Given the description of an element on the screen output the (x, y) to click on. 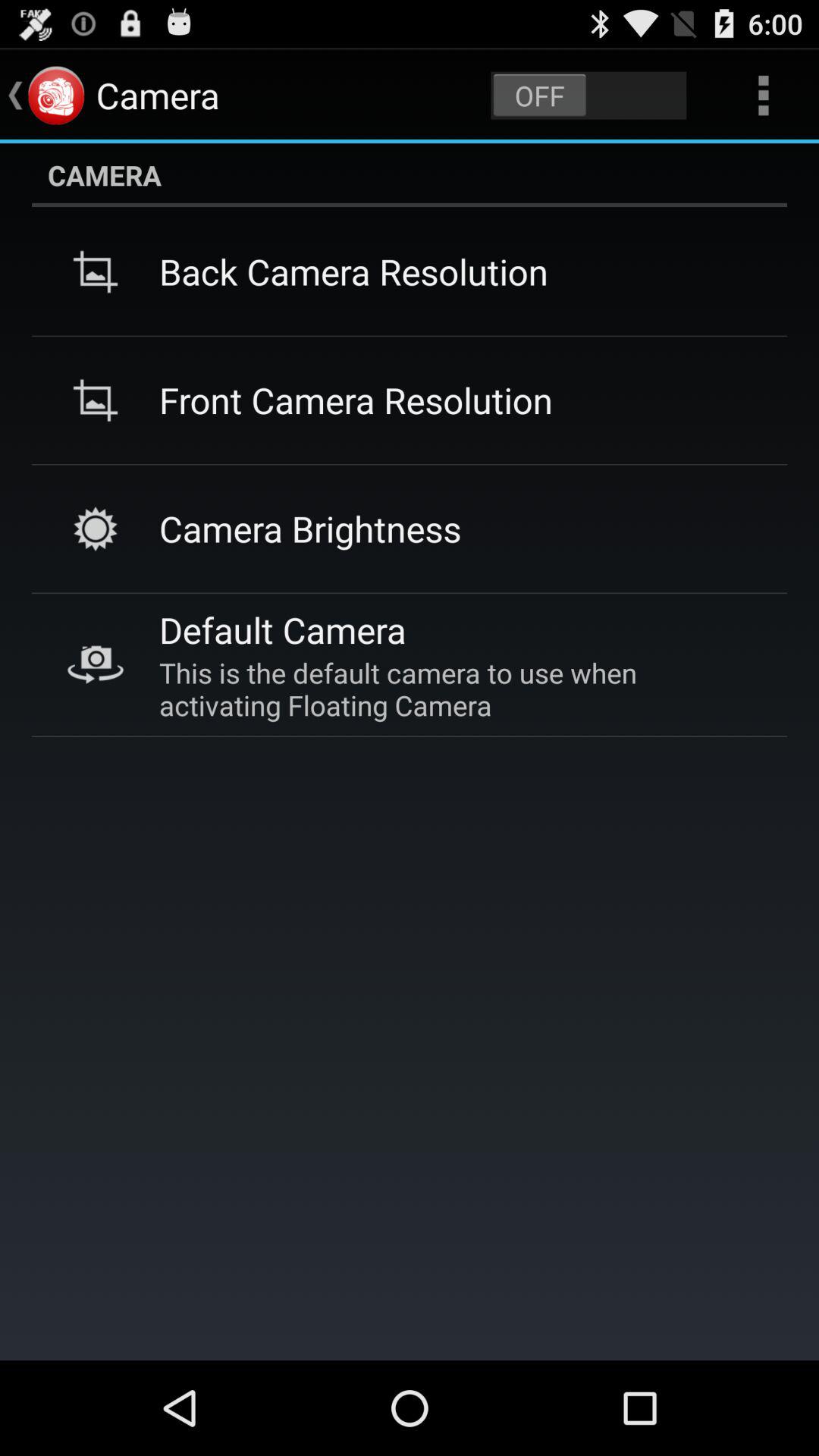
flip to camera brightness app (310, 528)
